Given the description of an element on the screen output the (x, y) to click on. 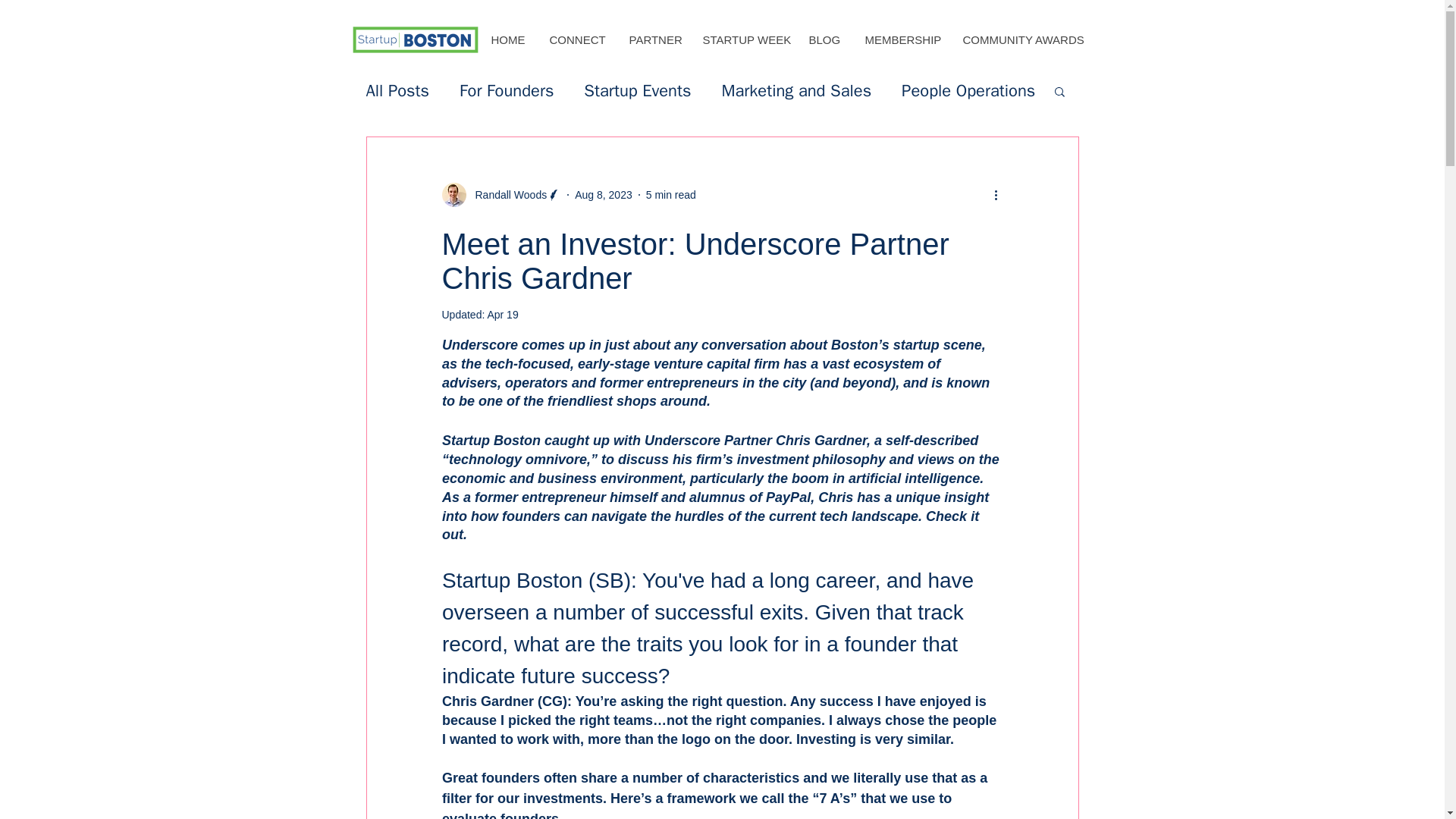
Randall Woods (506, 194)
Marketing and Sales (795, 90)
COMMUNITY AWARDS (1022, 39)
People Operations (968, 90)
Apr 19 (502, 314)
Aug 8, 2023 (603, 193)
All Posts (397, 90)
Randall Woods (500, 194)
BLOG (823, 39)
PARTNER (653, 39)
5 min read (670, 193)
MEMBERSHIP (900, 39)
HOME (508, 39)
For Founders (506, 90)
Startup Events (636, 90)
